Given the description of an element on the screen output the (x, y) to click on. 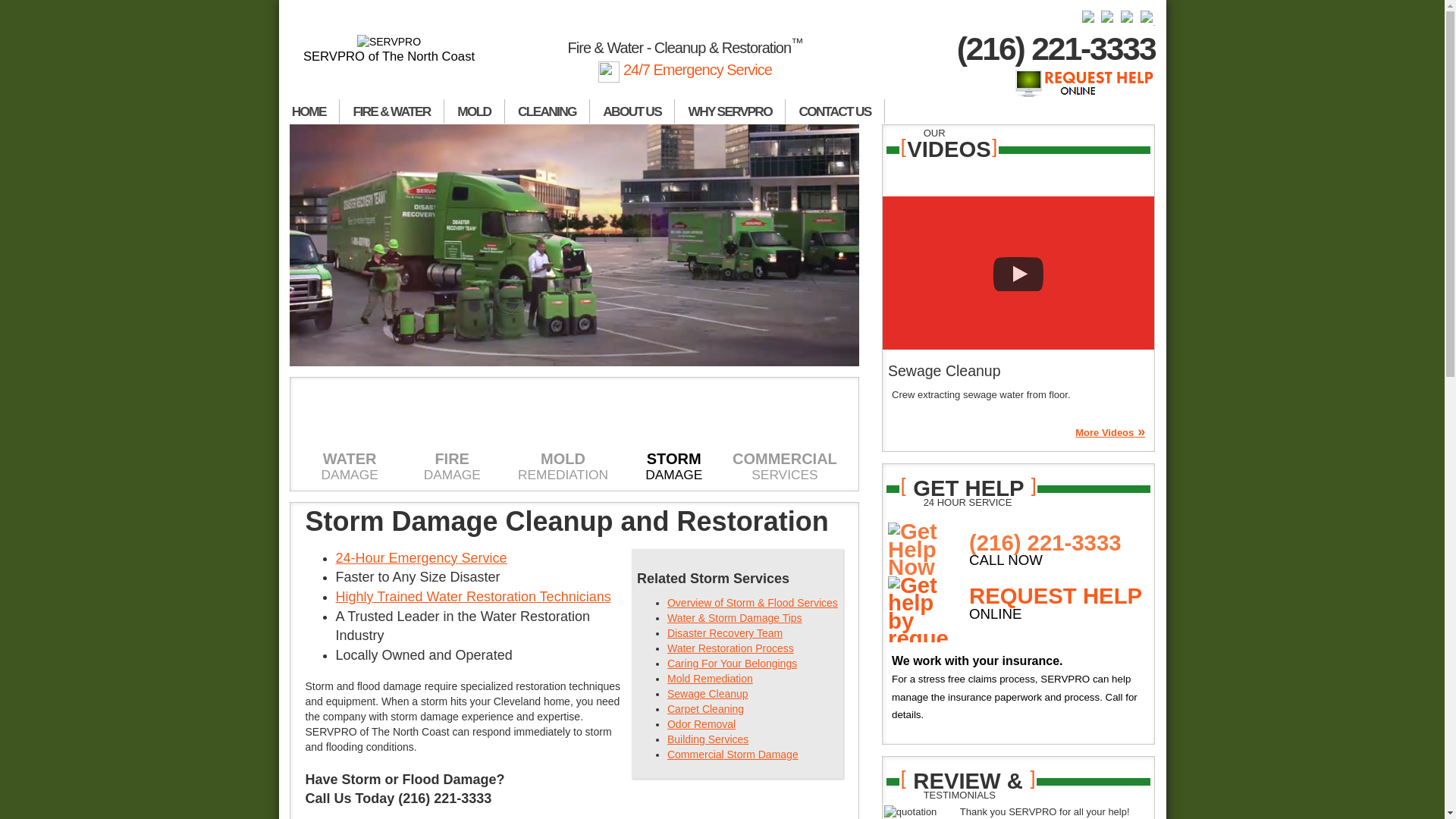
MOLD (474, 111)
CLEANING (547, 111)
ABOUT US (632, 111)
SERVPRO of The North Coast (389, 49)
HOME (309, 111)
